Given the description of an element on the screen output the (x, y) to click on. 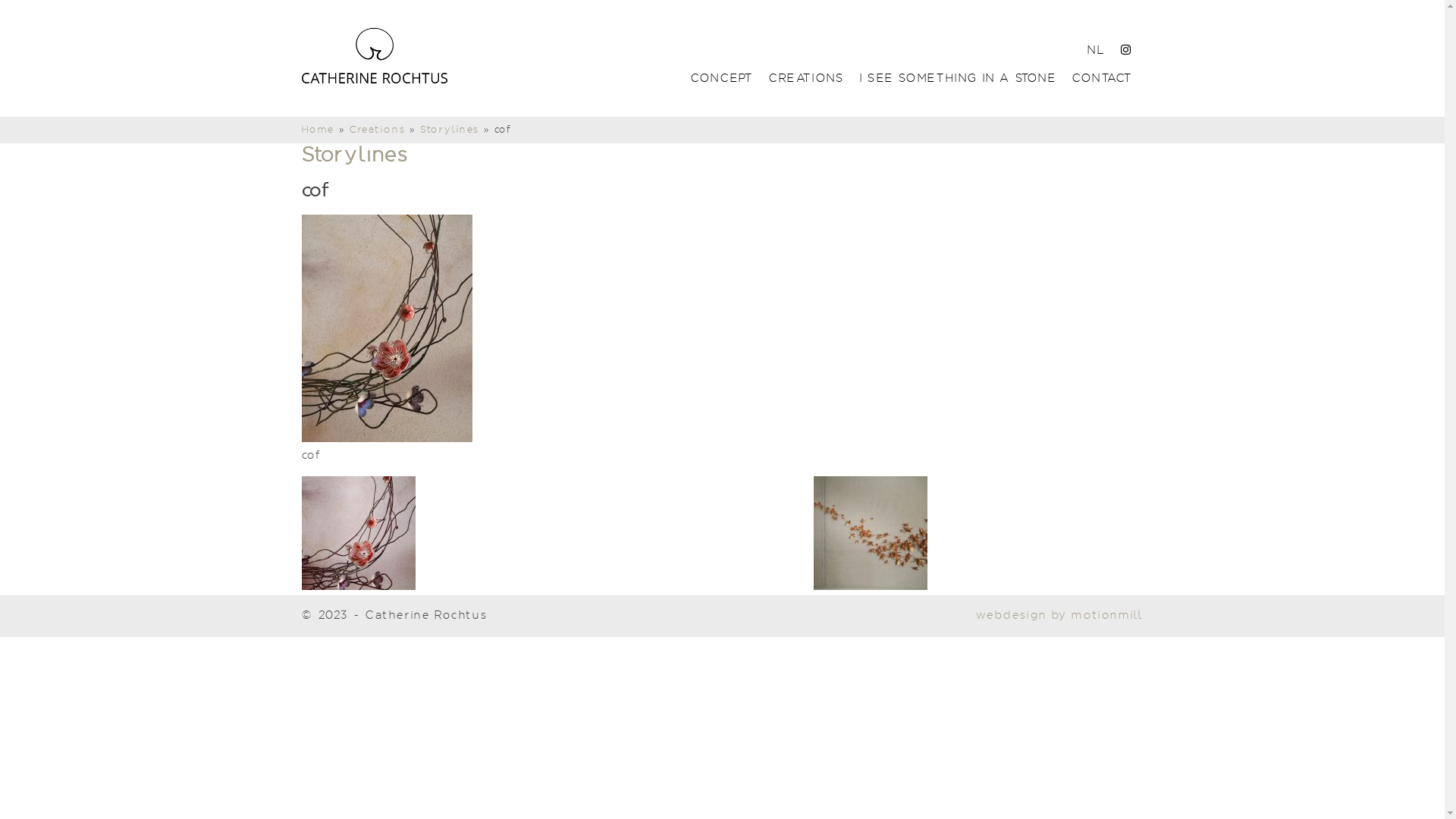
Storylines Element type: text (449, 129)
Home Element type: text (317, 129)
NL Element type: text (1095, 50)
I SEE SOMETHING IN A STONE Element type: text (957, 79)
Storylines Element type: text (354, 154)
CONTACT Element type: text (1101, 79)
CATHERINE ROCHTUS Element type: text (374, 53)
webdesign by motionmill Element type: text (1059, 615)
cof Element type: hover (386, 438)
Creations Element type: text (376, 129)
CREATIONS Element type: text (805, 79)
CONCEPT Element type: text (721, 79)
